Given the description of an element on the screen output the (x, y) to click on. 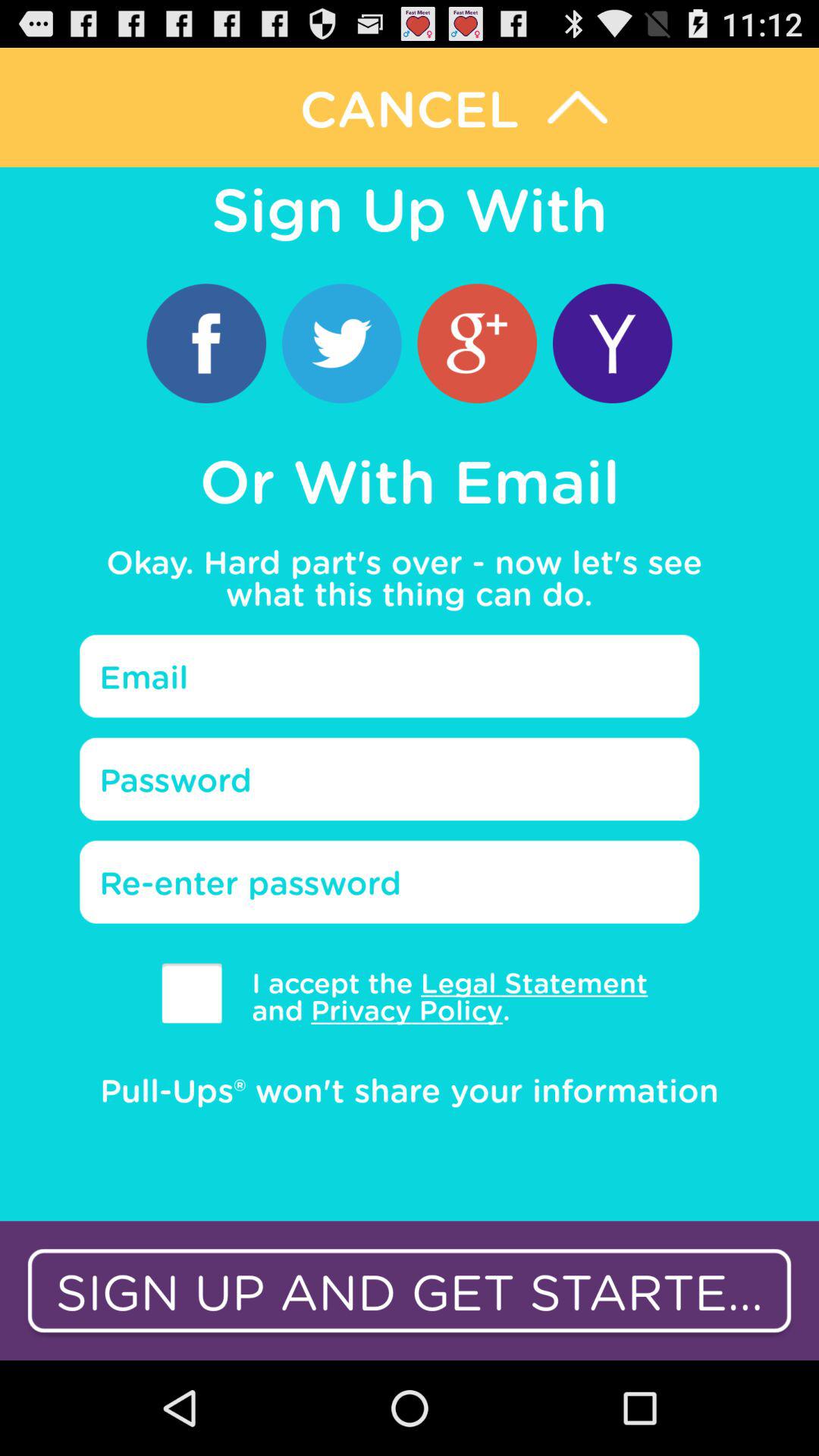
yahoo (612, 343)
